Given the description of an element on the screen output the (x, y) to click on. 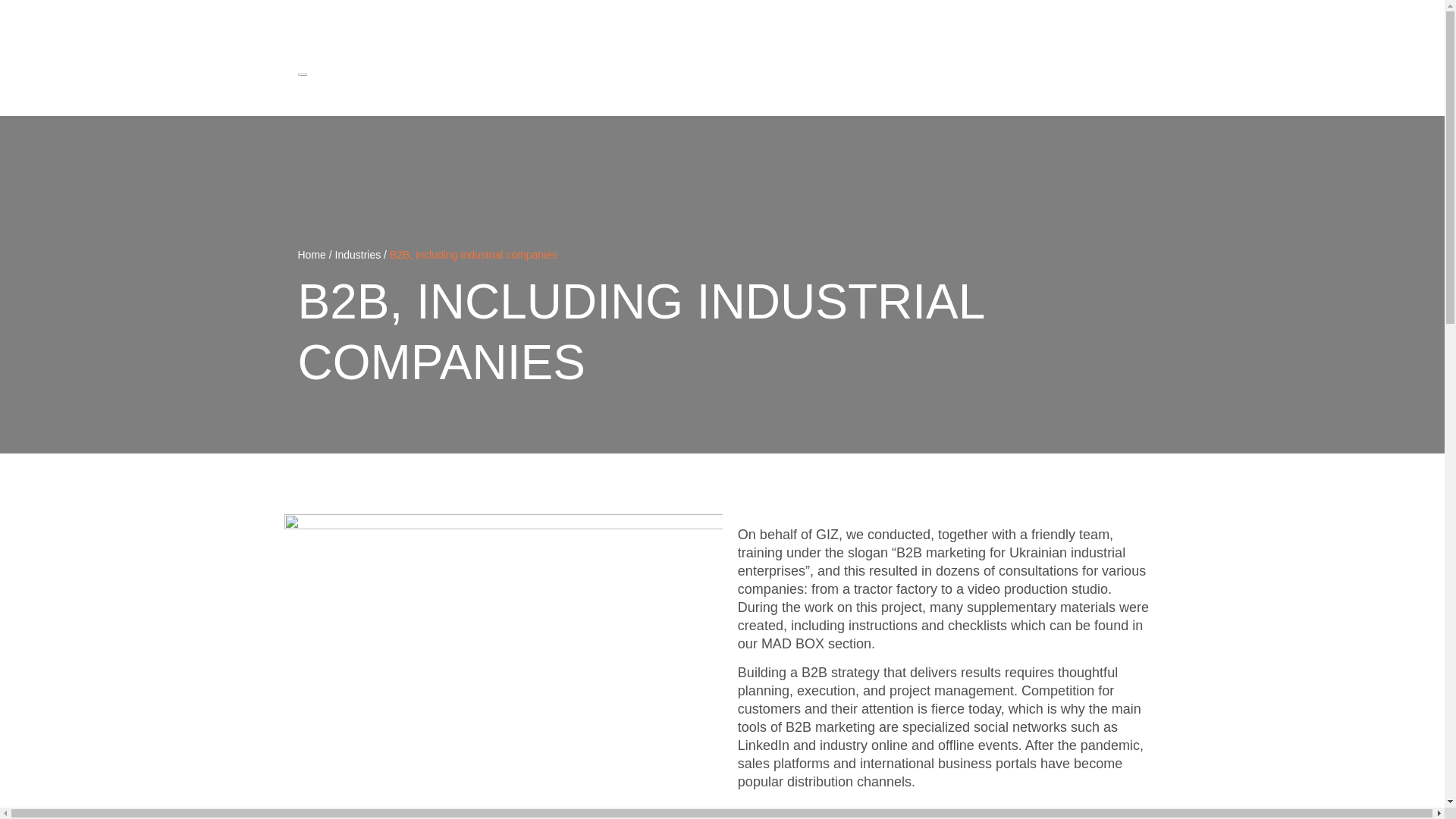
Blog (1077, 72)
About us (969, 72)
Home (798, 72)
Services (849, 72)
EN (1130, 19)
B2B, including industrial companies (473, 254)
Home (310, 254)
Mad Box (1028, 72)
Industries (908, 72)
Industries (357, 254)
Contacts (1125, 72)
